Given the description of an element on the screen output the (x, y) to click on. 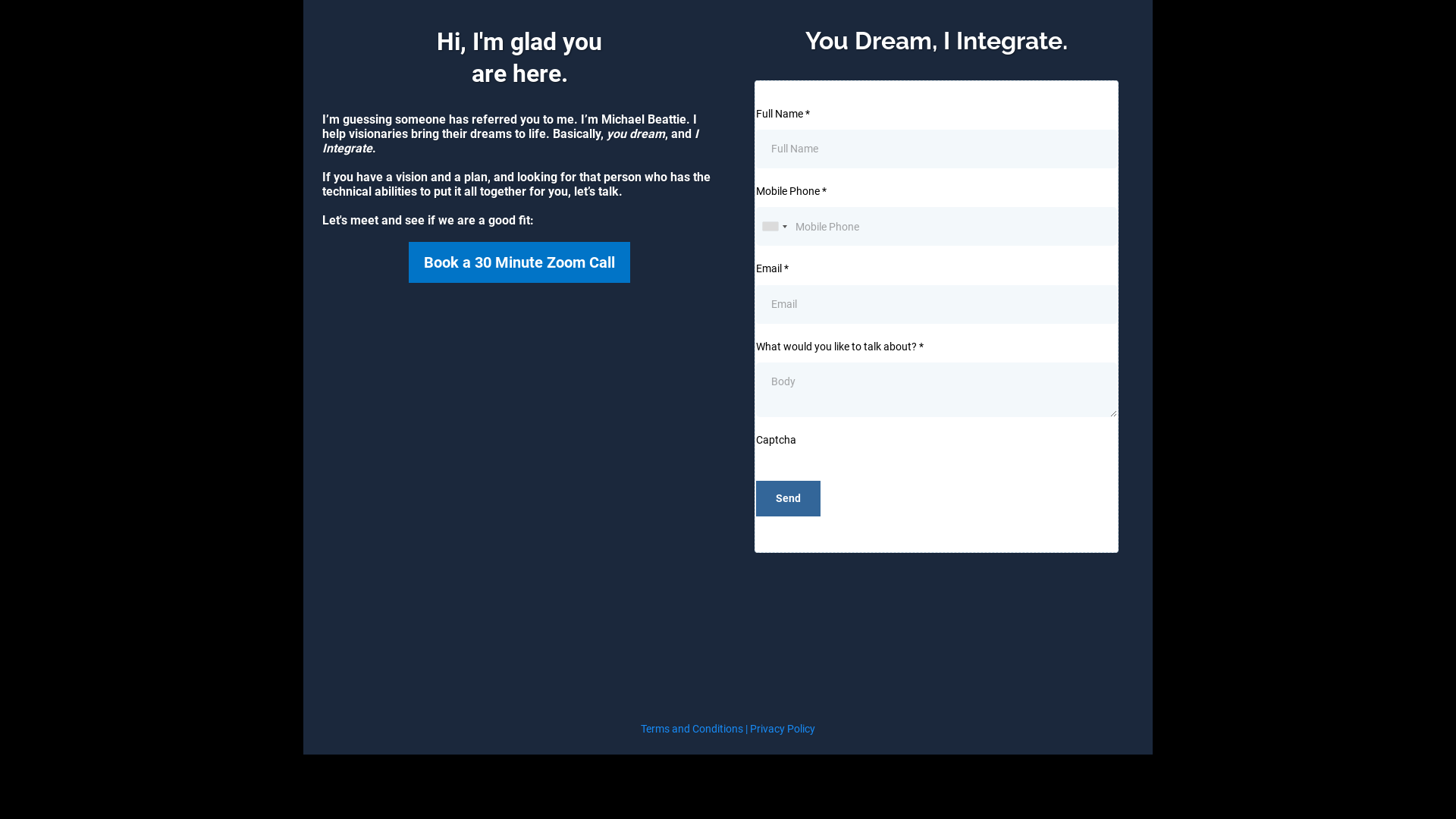
United States: +1 Element type: hover (773, 225)
Terms and Conditions | Privacy Policy Element type: text (727, 728)
Book a 30 Minute Zoom Call Element type: text (519, 261)
Send Element type: text (788, 498)
